Given the description of an element on the screen output the (x, y) to click on. 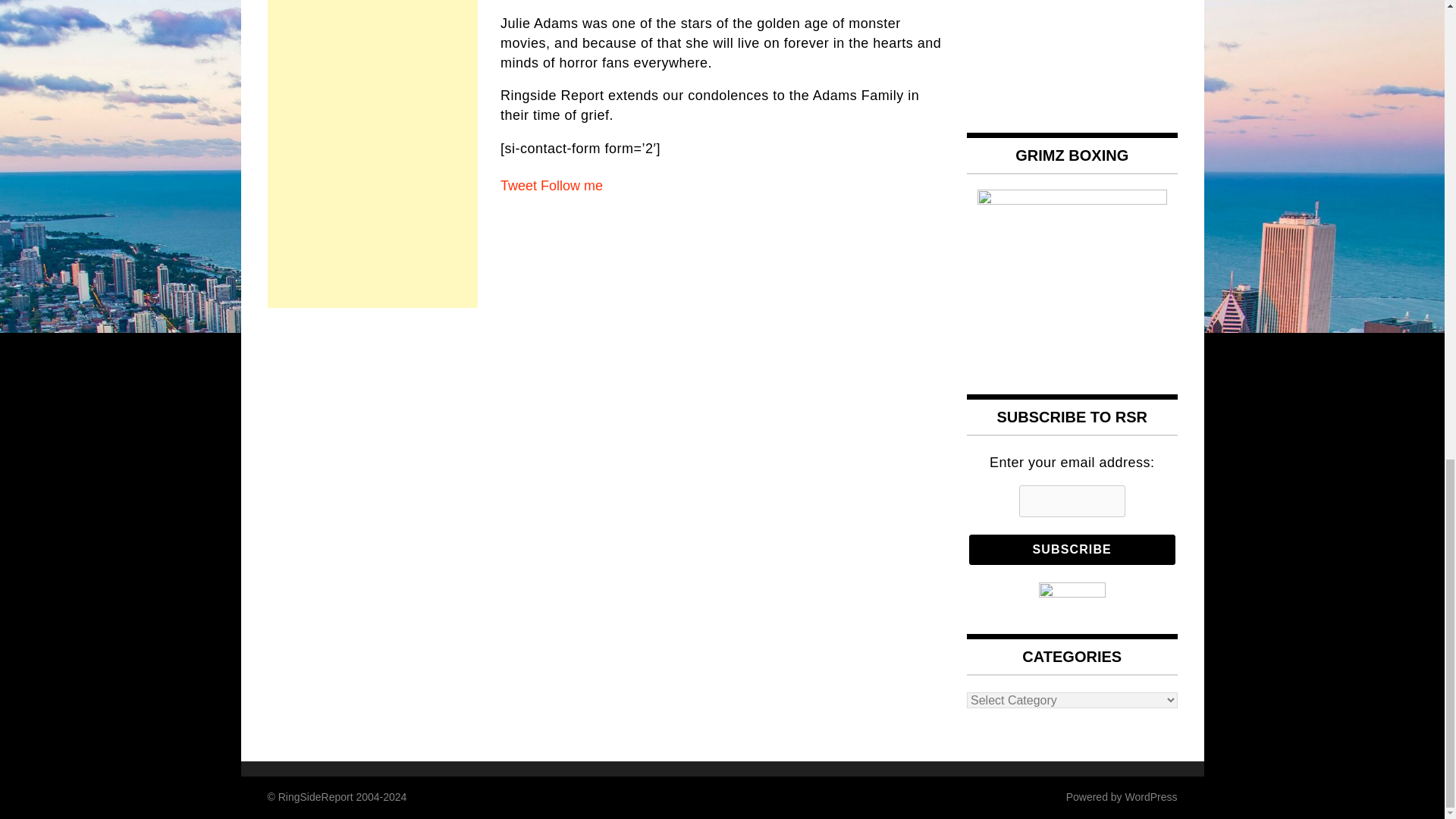
Tweet (518, 185)
Subscribe (1071, 549)
Follow me (571, 185)
Subscribe (1071, 549)
WordPress (1151, 797)
